Given the description of an element on the screen output the (x, y) to click on. 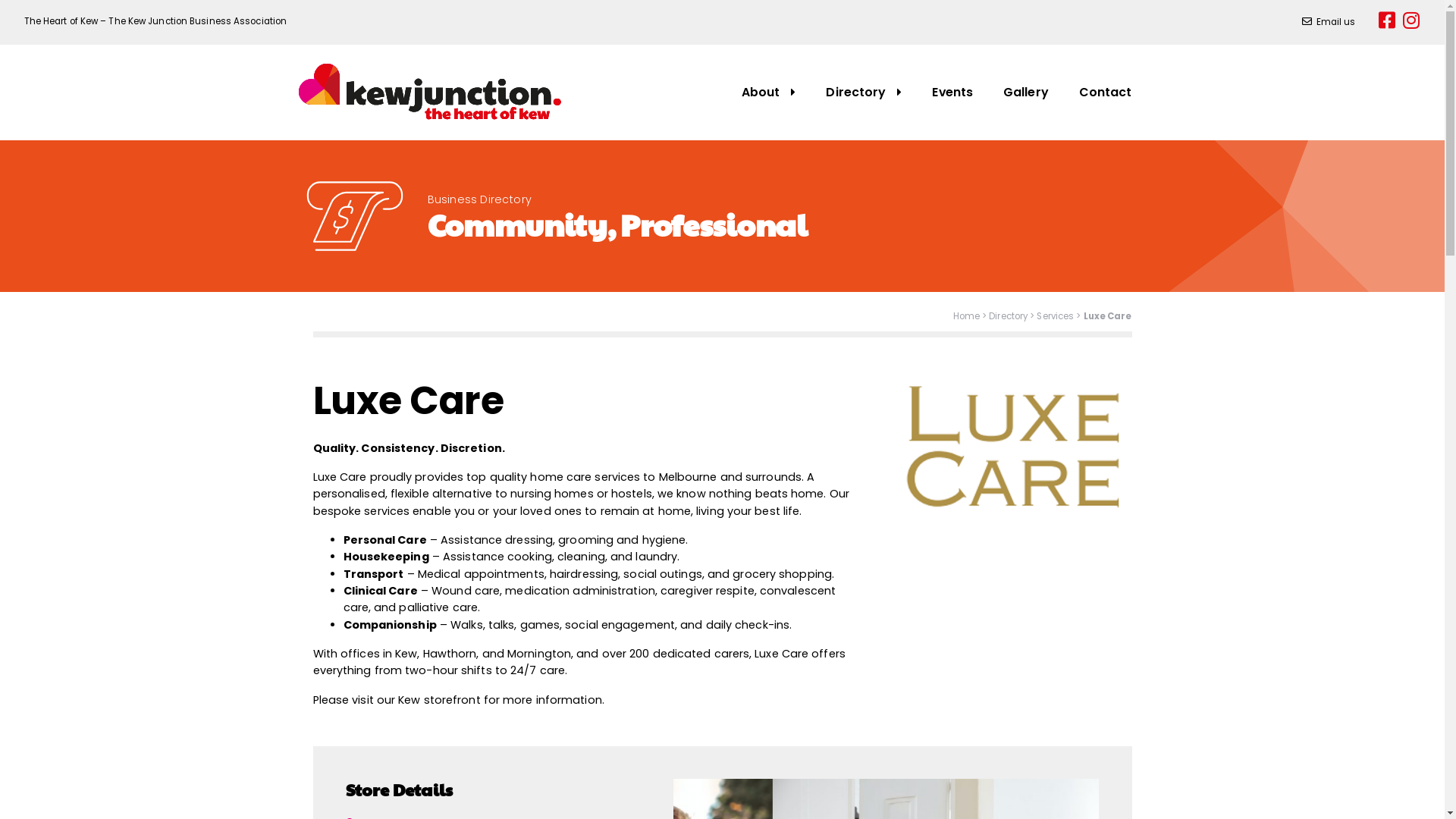
Contact Element type: text (1105, 92)
Events Element type: text (952, 92)
About Element type: text (768, 92)
Email us Element type: text (1327, 21)
Directory Element type: text (863, 92)
Home Element type: text (966, 316)
Services Element type: text (1054, 316)
Gallery Element type: text (1025, 92)
Directory Element type: text (1007, 316)
